Given the description of an element on the screen output the (x, y) to click on. 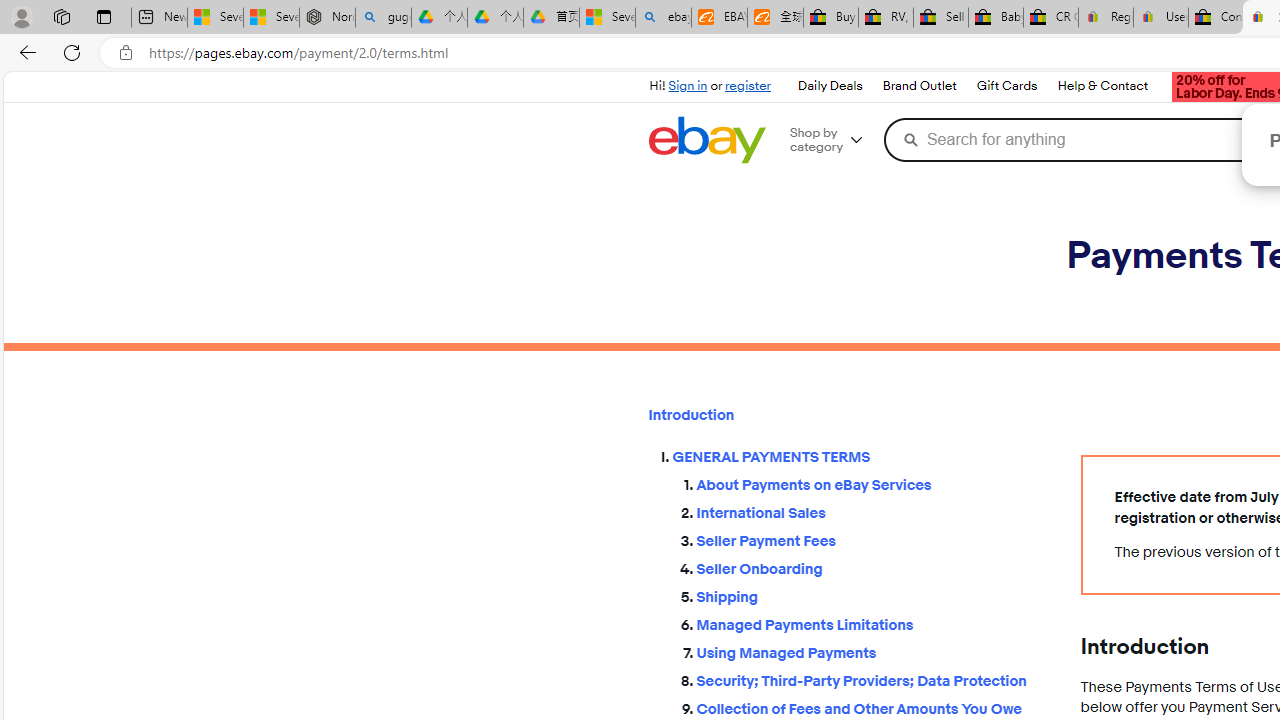
Buy Auto Parts & Accessories | eBay (830, 17)
About Payments on eBay Services (872, 485)
Brand Outlet (919, 86)
Using Managed Payments (872, 649)
Sign in (687, 85)
Gift Cards (1006, 85)
Daily Deals (829, 85)
Baby Keepsakes & Announcements for sale | eBay (995, 17)
Brand Outlet (918, 85)
Using Managed Payments (872, 652)
International Sales (872, 513)
